Given the description of an element on the screen output the (x, y) to click on. 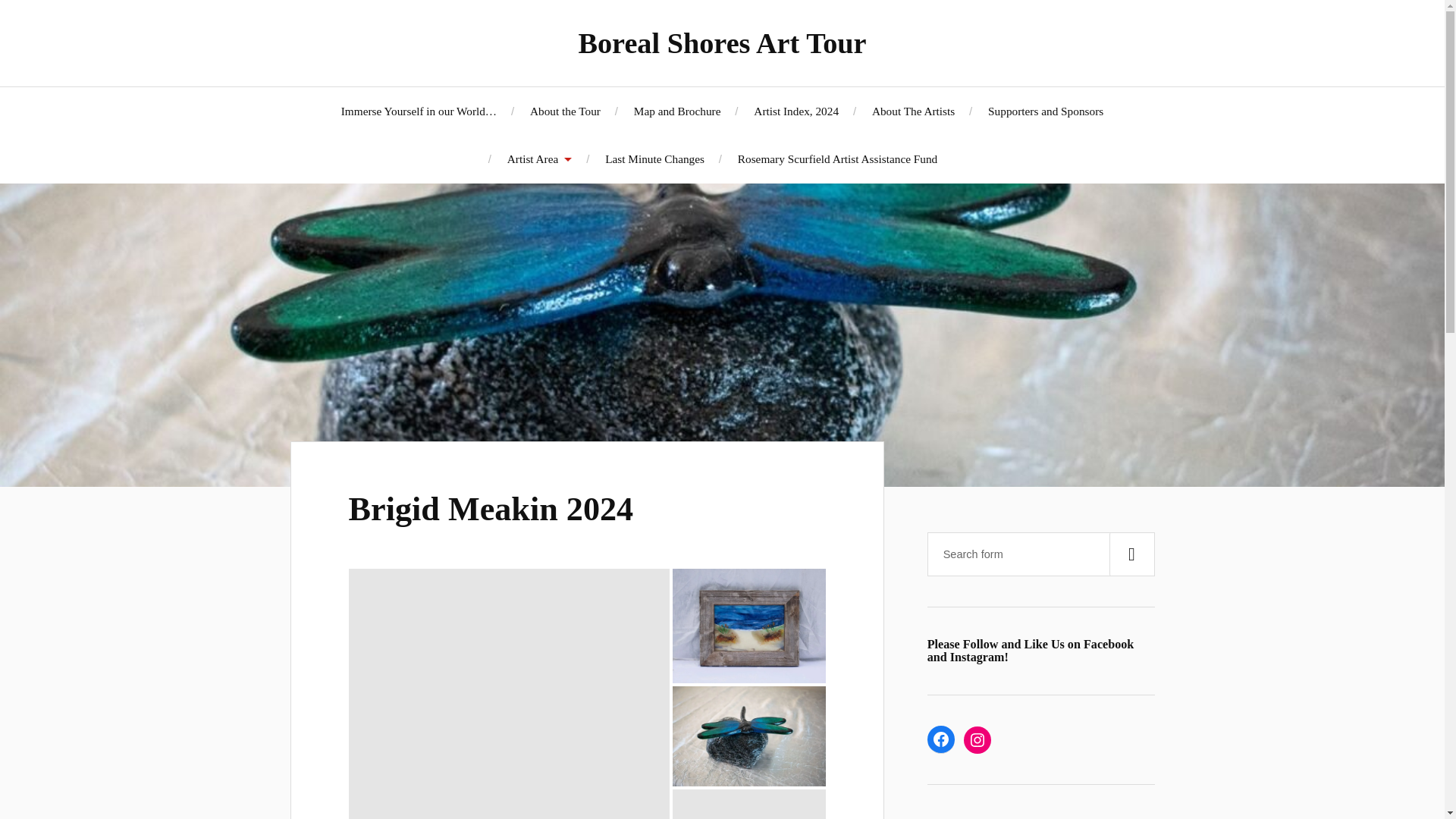
Supporters and Sponsors (1045, 110)
About the Tour (564, 110)
About The Artists (913, 110)
Last Minute Changes (654, 158)
Rosemary Scurfield Artist Assistance Fund (837, 158)
Map and Brochure (676, 110)
Artist Index, 2024 (796, 110)
Boreal Shores Art Tour (722, 42)
Artist Area (539, 158)
Brigid Meakin 2024 (491, 508)
